Given the description of an element on the screen output the (x, y) to click on. 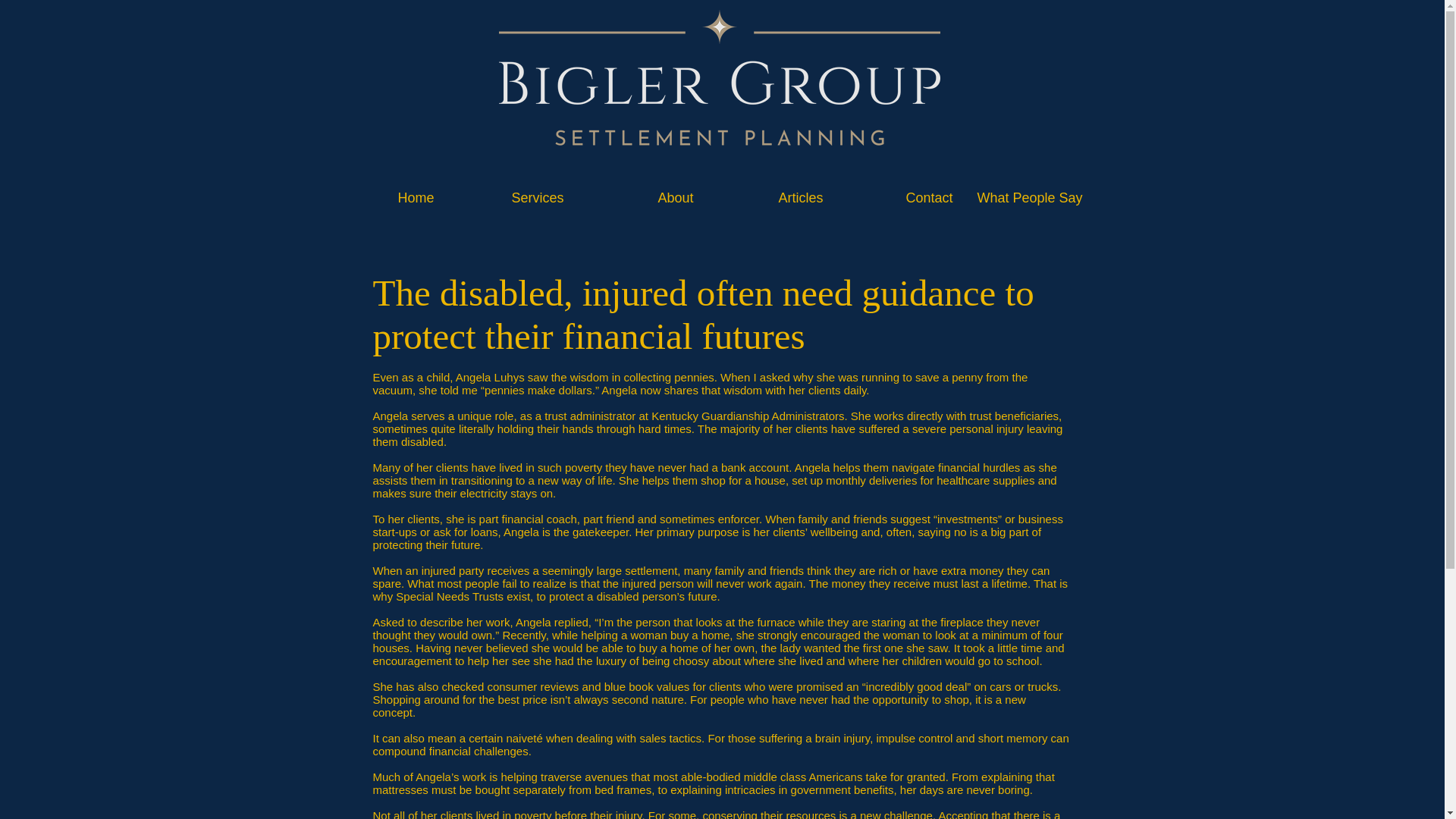
Articles (769, 197)
Contact (898, 197)
About (639, 197)
Home (380, 197)
What People Say (1028, 197)
Services (510, 197)
